Given the description of an element on the screen output the (x, y) to click on. 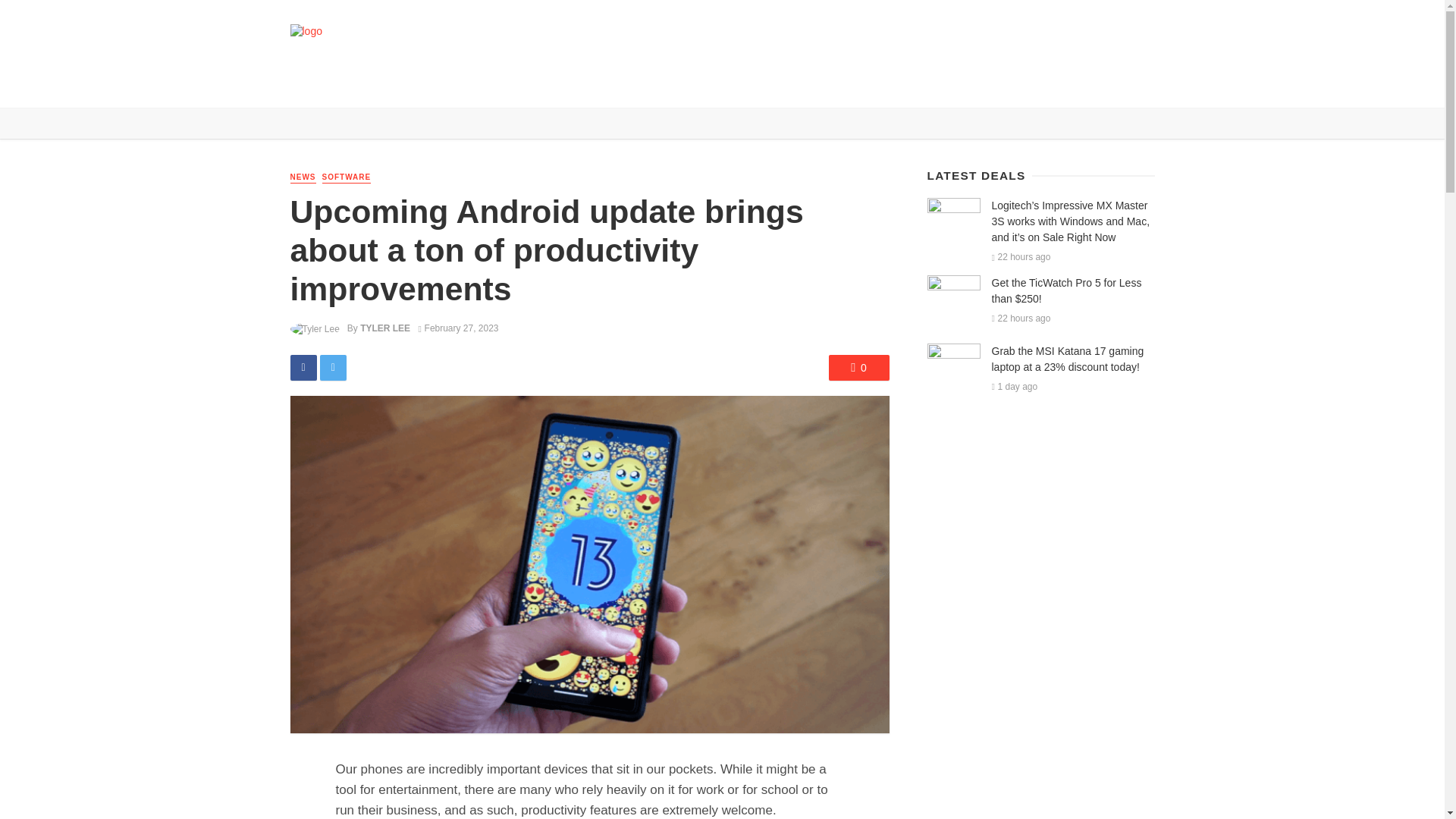
OPINION (560, 85)
Share on Facebook (302, 367)
MORE (612, 85)
NEWS (345, 85)
February 27, 2023 at 4:10 am (459, 327)
NEWS (302, 177)
Share on Twitter (333, 367)
SOFTWARE (346, 177)
0 Comments (858, 367)
TYLER LEE (384, 327)
